Given the description of an element on the screen output the (x, y) to click on. 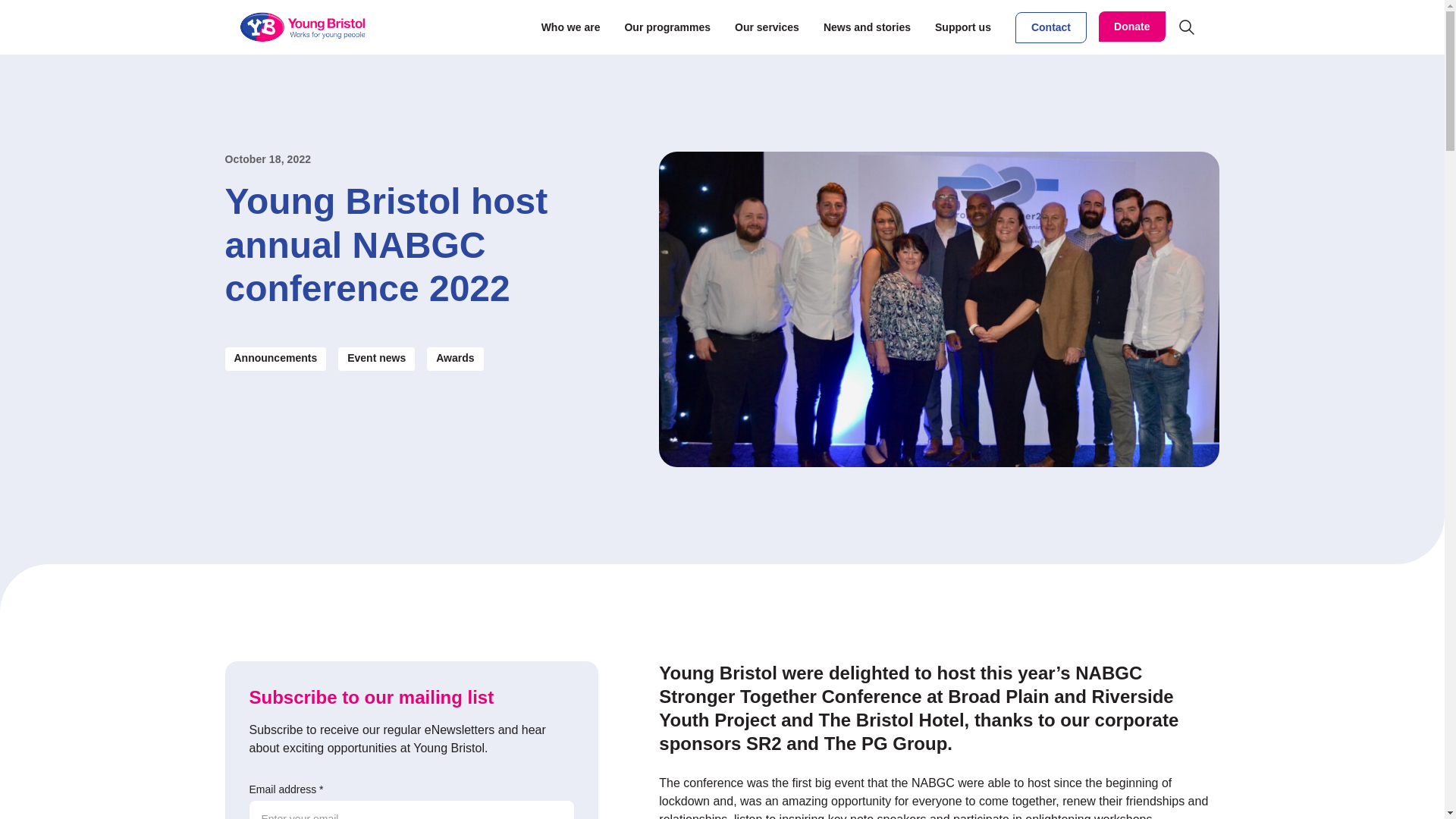
Contact (1050, 27)
Our services (767, 27)
Who we are (570, 27)
Support us (962, 27)
Our programmes (667, 27)
Donate (1131, 26)
News and stories (867, 27)
